Given the description of an element on the screen output the (x, y) to click on. 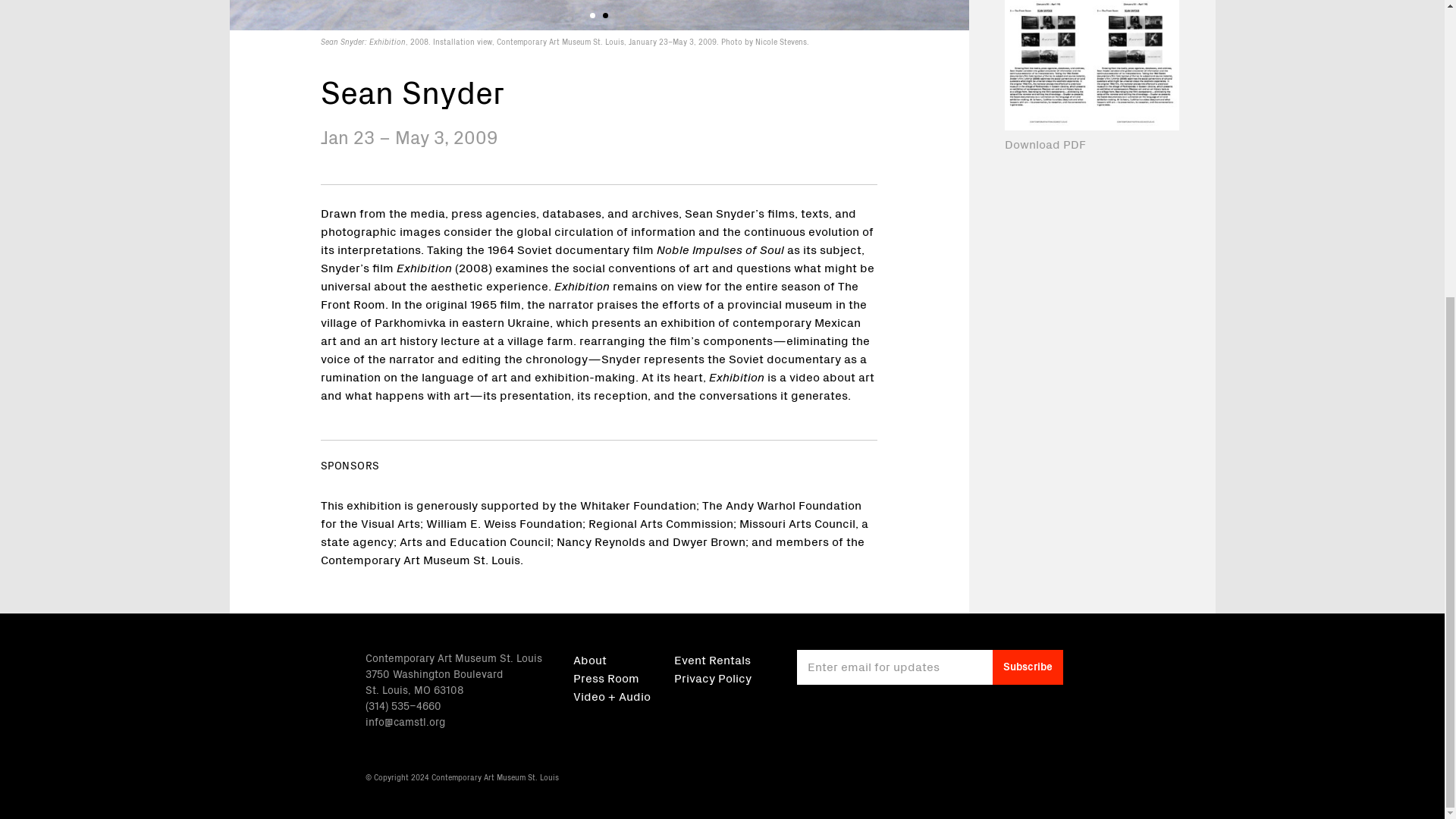
Subscribe (1027, 667)
